Given the description of an element on the screen output the (x, y) to click on. 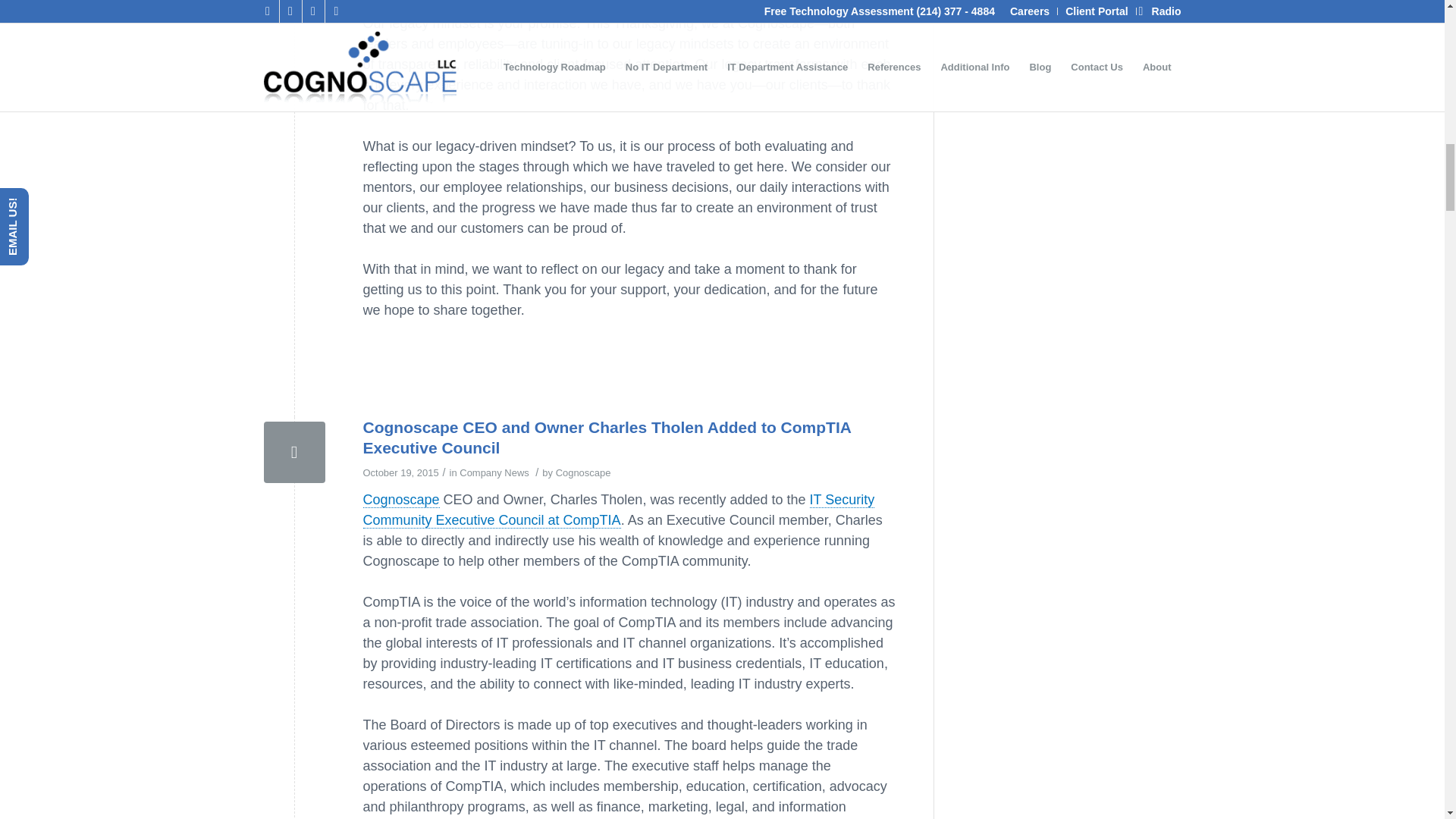
IT Security Community Executive Council at CompTIA (618, 510)
Posts by Cognoscape (583, 472)
Cognoscape (583, 472)
Company News (494, 472)
Cognoscape (400, 499)
